Given the description of an element on the screen output the (x, y) to click on. 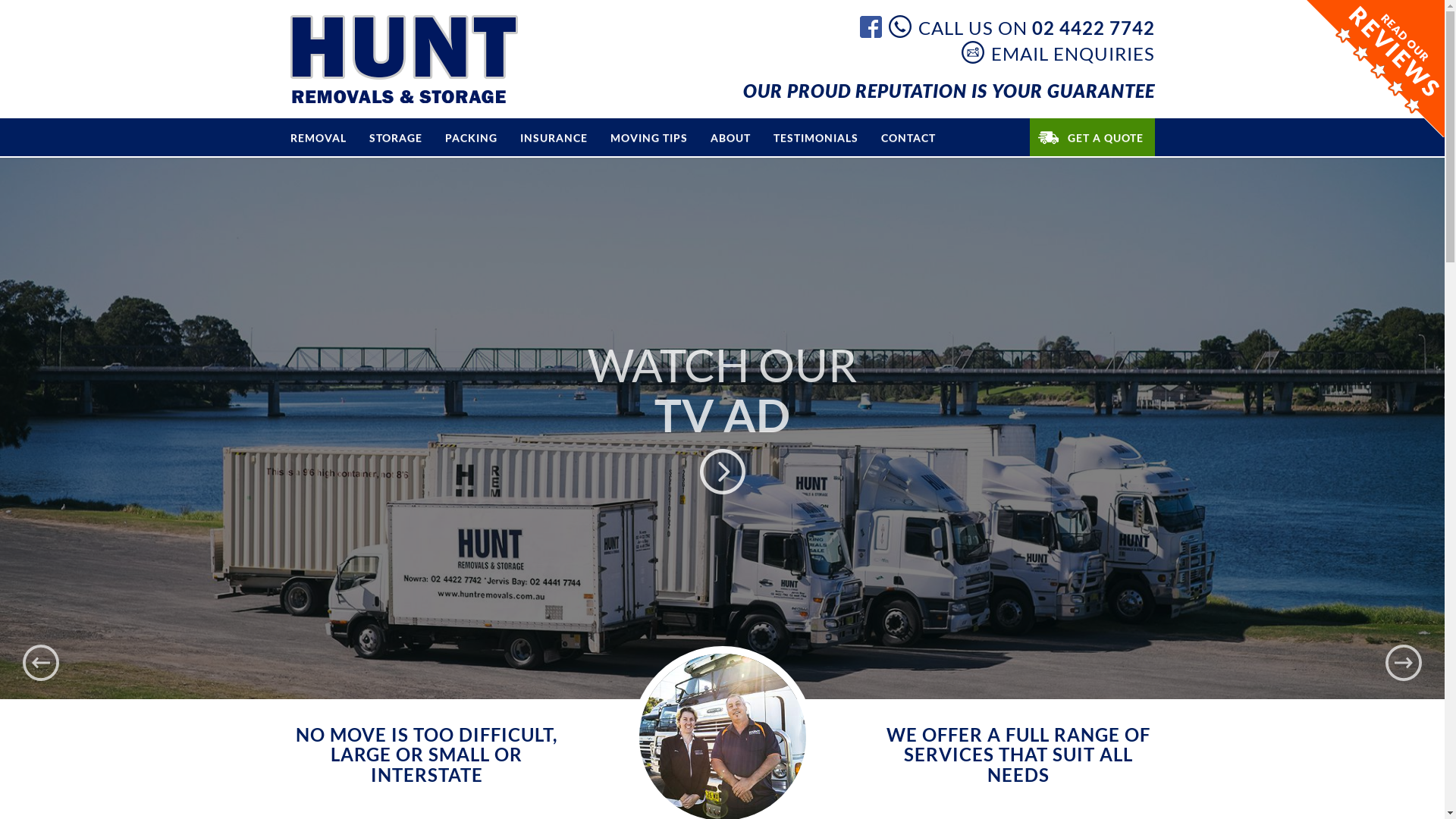
CALL US ON 02 4422 7742 Element type: text (1021, 26)
MOVING TIPS Element type: text (649, 137)
WATCH OUR
TV AD Element type: text (722, 428)
REMOVAL Element type: text (318, 137)
PACKING Element type: text (470, 137)
EMAIL ENQUIRIES Element type: text (1057, 51)
STORAGE Element type: text (395, 137)
INSURANCE Element type: text (553, 137)
GET A QUOTE Element type: text (1091, 137)
CONTACT Element type: text (907, 137)
TESTIMONIALS Element type: text (815, 137)
ABOUT Element type: text (730, 137)
